Given the description of an element on the screen output the (x, y) to click on. 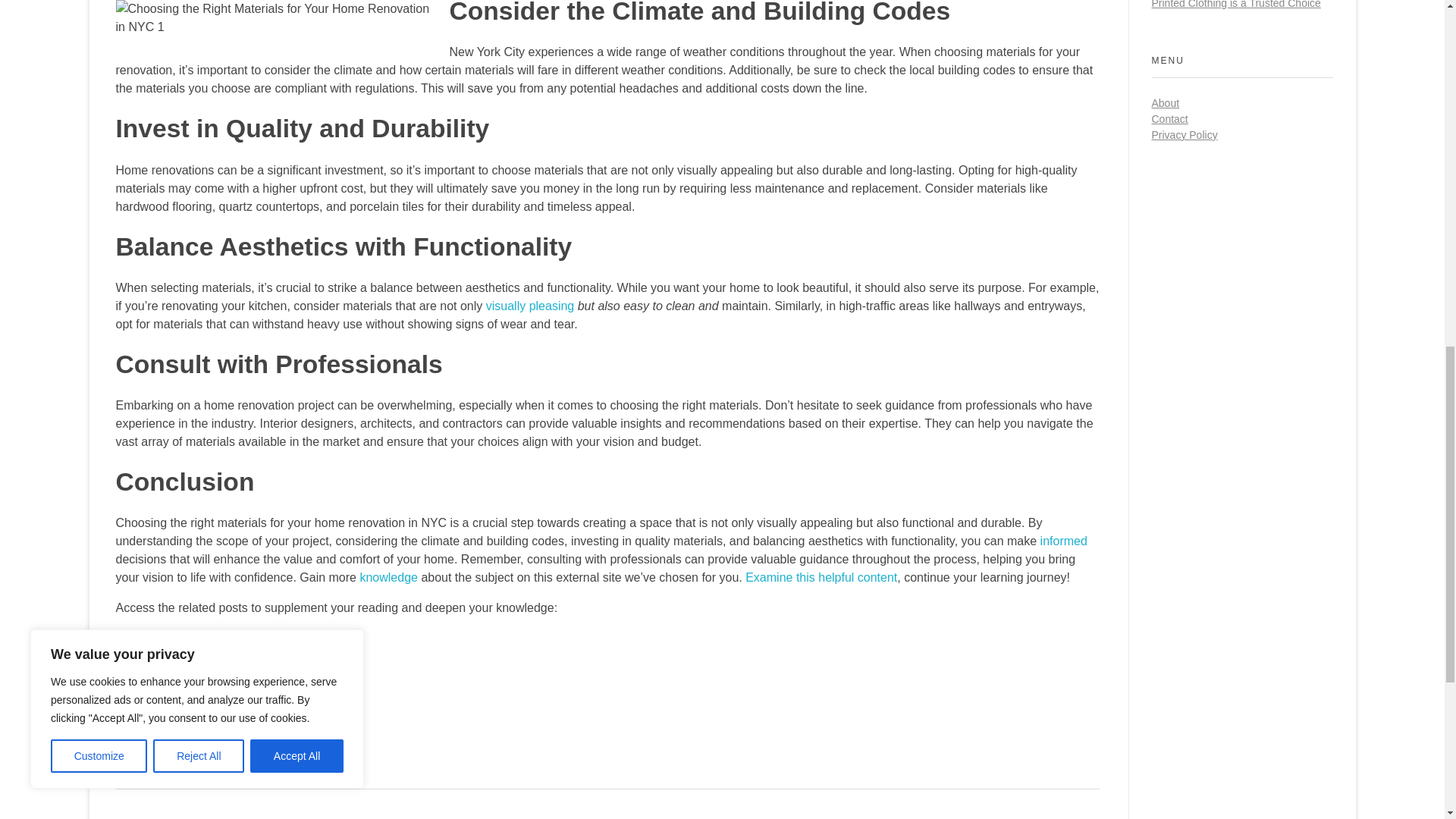
informed (1064, 540)
Click ahead (147, 667)
Access this informative material (200, 728)
Read this useful material (181, 637)
Examine this helpful content (820, 576)
knowledge (388, 576)
Read this impartial source (185, 698)
visually pleasing (530, 305)
